Given the description of an element on the screen output the (x, y) to click on. 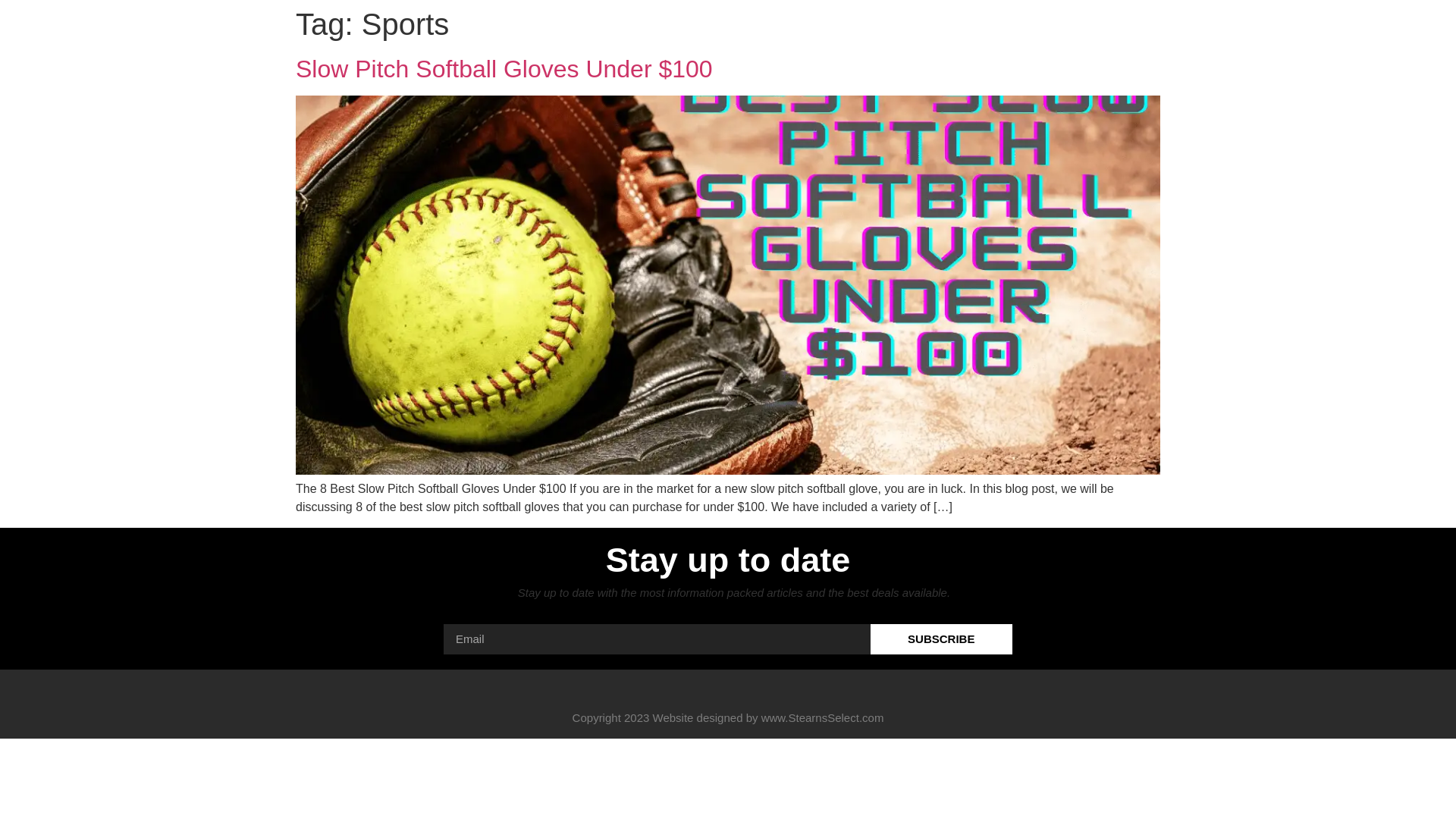
Copyright 2023 Website designed by www.StearnsSelect.com (727, 717)
SUBSCRIBE (941, 639)
